Given the description of an element on the screen output the (x, y) to click on. 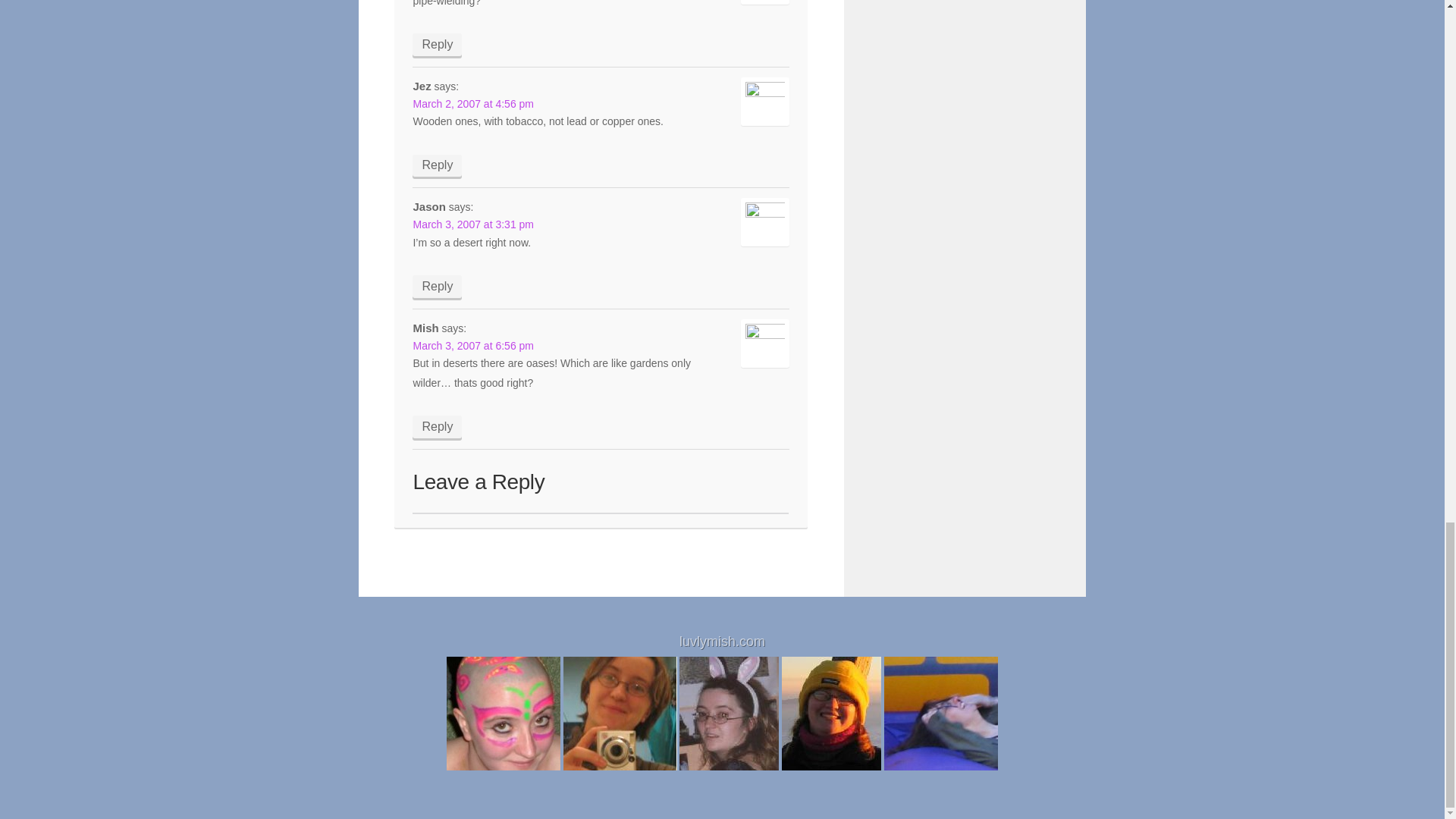
Reply (436, 426)
March 2, 2007 at 4:56 pm (473, 103)
Reply (436, 165)
March 3, 2007 at 6:56 pm (473, 345)
Reply (436, 44)
Reply (436, 286)
March 3, 2007 at 3:31 pm (473, 224)
